Given the description of an element on the screen output the (x, y) to click on. 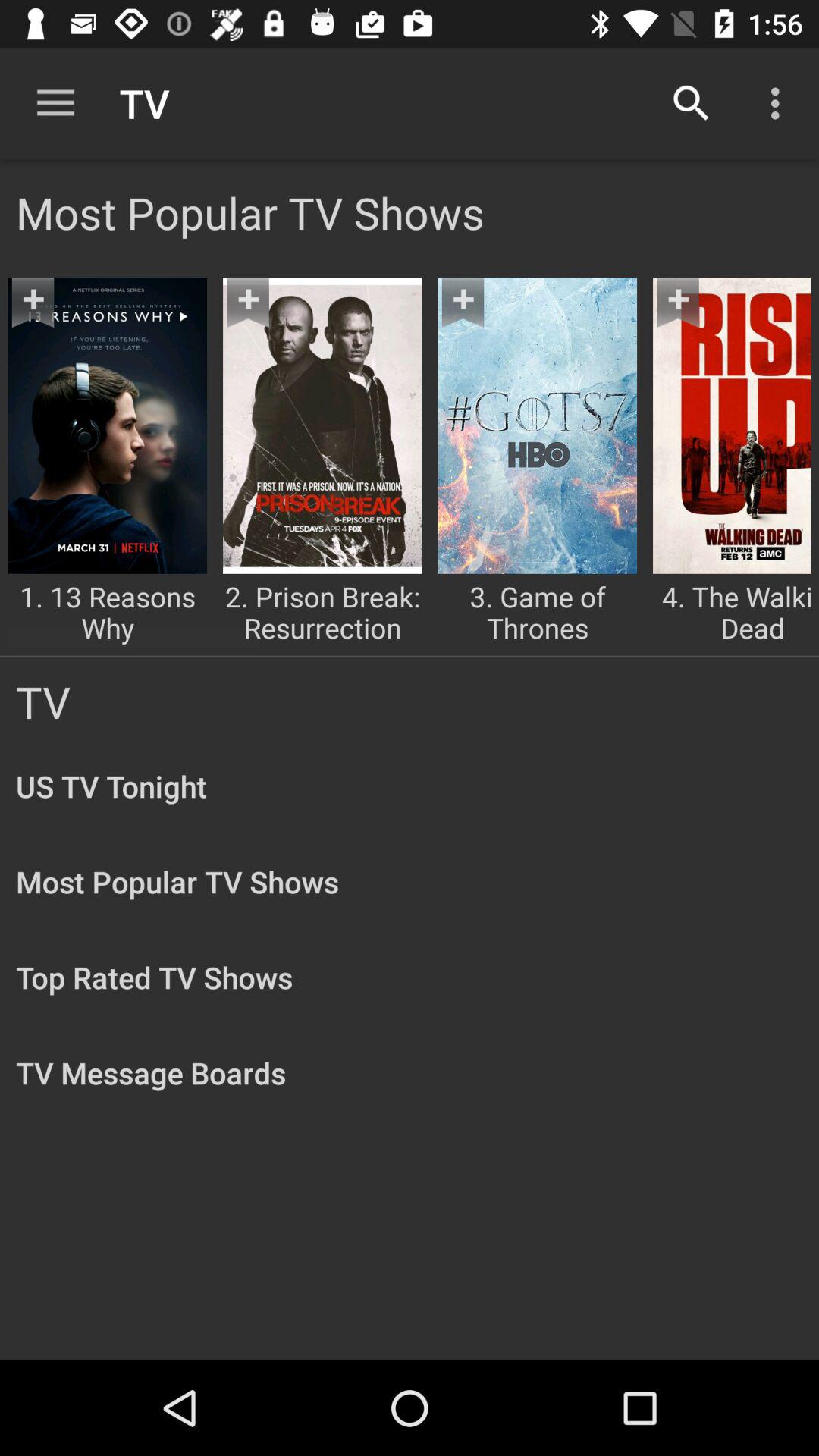
press the item above the most popular tv (779, 103)
